Given the description of an element on the screen output the (x, y) to click on. 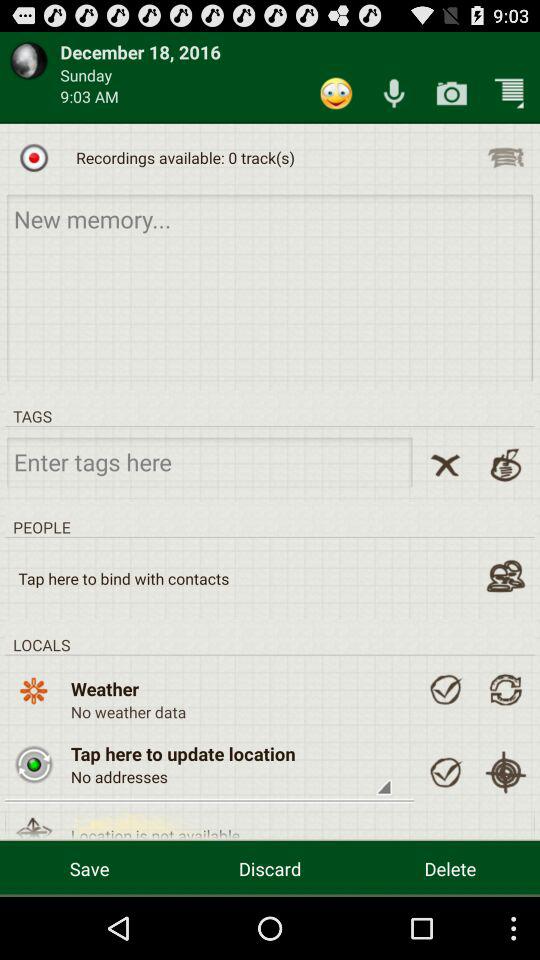
choose the option (34, 822)
